Given the description of an element on the screen output the (x, y) to click on. 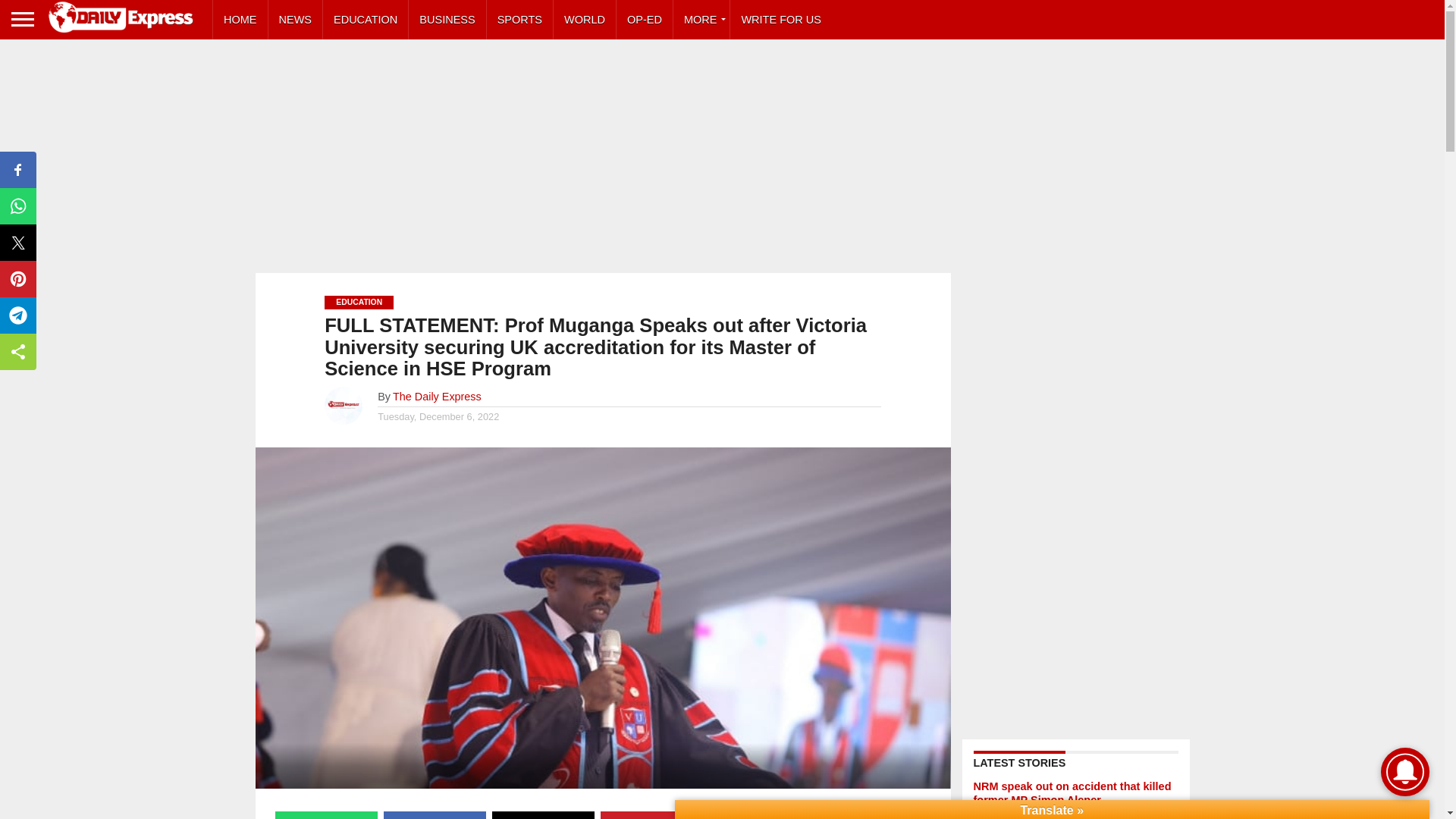
MORE (701, 19)
NEWS (295, 19)
BUSINESS (446, 19)
SPORTS (519, 19)
HOME (239, 19)
The Daily Express (437, 396)
WORLD (584, 19)
WRITE FOR US (780, 19)
EDUCATION (365, 19)
Posts by The Daily Express (437, 396)
OP-ED (643, 19)
